Given the description of an element on the screen output the (x, y) to click on. 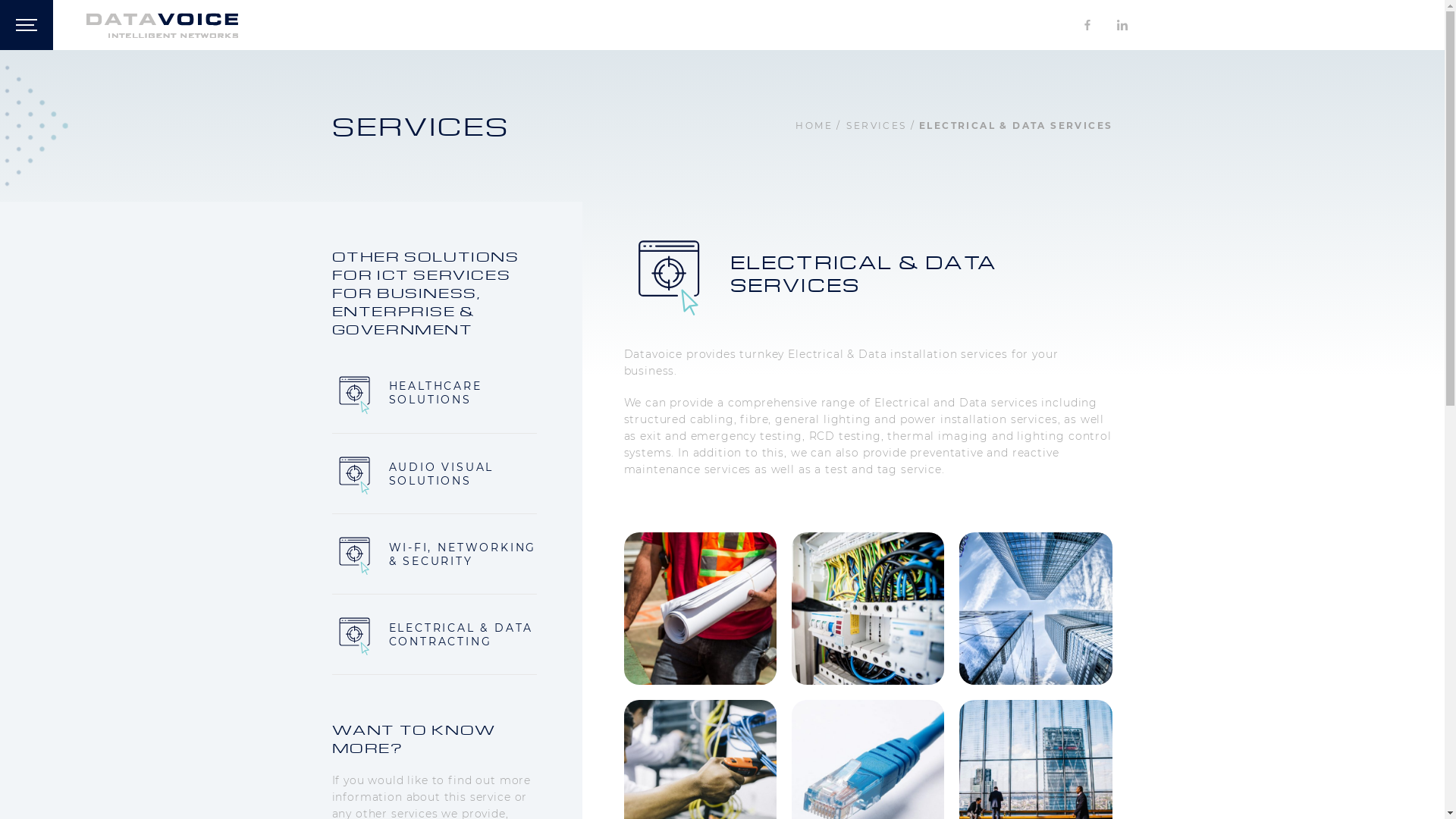
SERVICES Element type: text (876, 125)
WI-FI, NETWORKING & SECURITY Element type: text (434, 554)
HOME Element type: text (814, 125)
ELECTRICAL & DATA CONTRACTING Element type: text (434, 634)
AUDIO VISUAL SOLUTIONS Element type: text (434, 473)
HEALTHCARE SOLUTIONS Element type: text (434, 393)
